Given the description of an element on the screen output the (x, y) to click on. 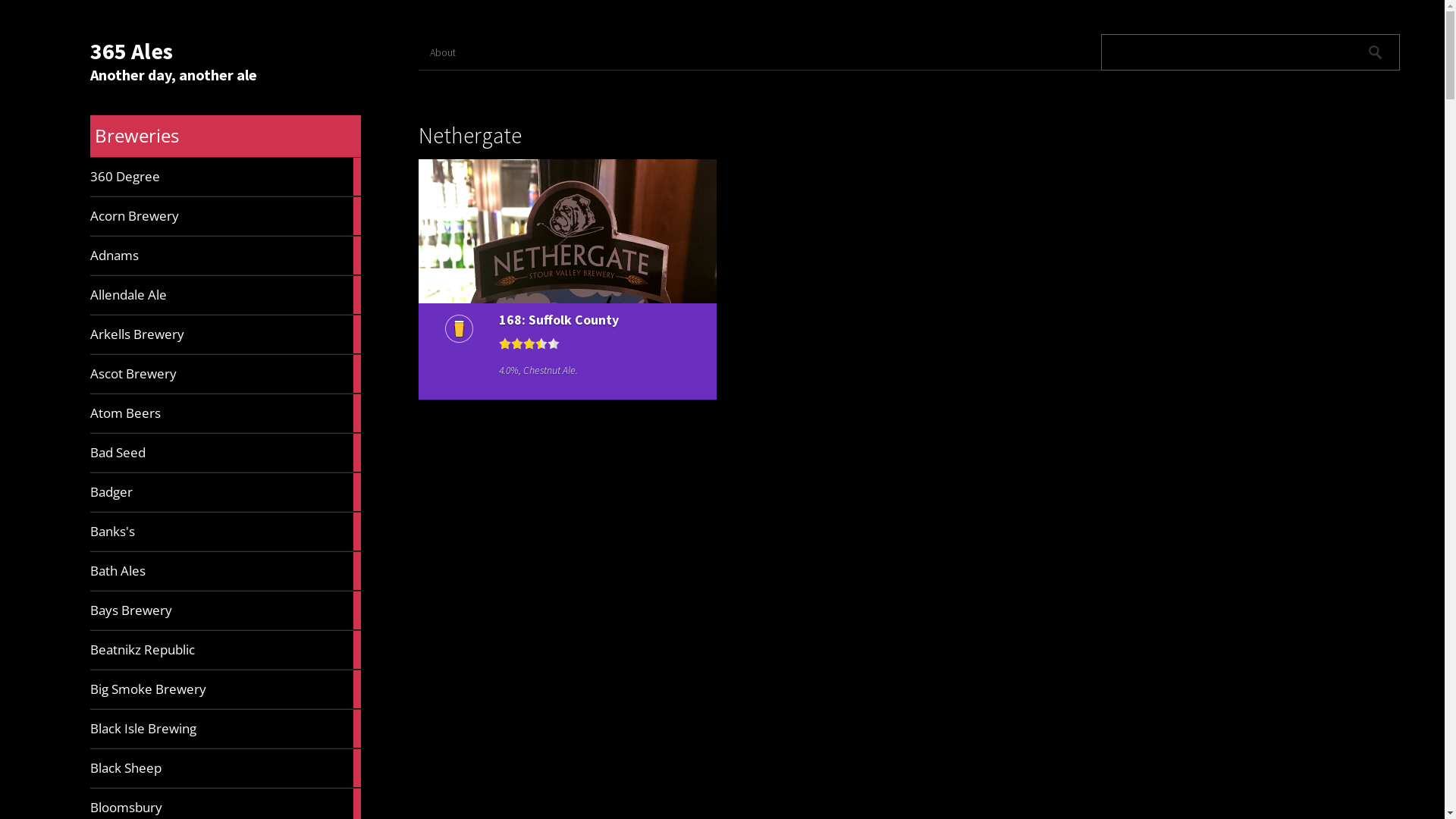
365 Ales Element type: text (131, 50)
Ascot Brewery Element type: text (225, 373)
Search for: Element type: hover (1227, 51)
Adnams Element type: text (225, 255)
Acorn Brewery Element type: text (225, 215)
Black Sheep Element type: text (225, 767)
Arkells Brewery Element type: text (225, 334)
Big Smoke Brewery Element type: text (225, 689)
Atom Beers Element type: text (225, 413)
Badger Element type: text (225, 491)
Bath Ales Element type: text (225, 570)
Banks's Element type: text (225, 531)
360 Degree Element type: text (225, 176)
About Element type: text (453, 51)
168: Suffolk County Element type: text (595, 319)
Bays Brewery Element type: text (225, 610)
Bad Seed Element type: text (225, 452)
Black Isle Brewing Element type: text (225, 728)
Allendale Ale Element type: text (225, 294)
Beatnikz Republic Element type: text (225, 649)
  Element type: text (1375, 51)
